Given the description of an element on the screen output the (x, y) to click on. 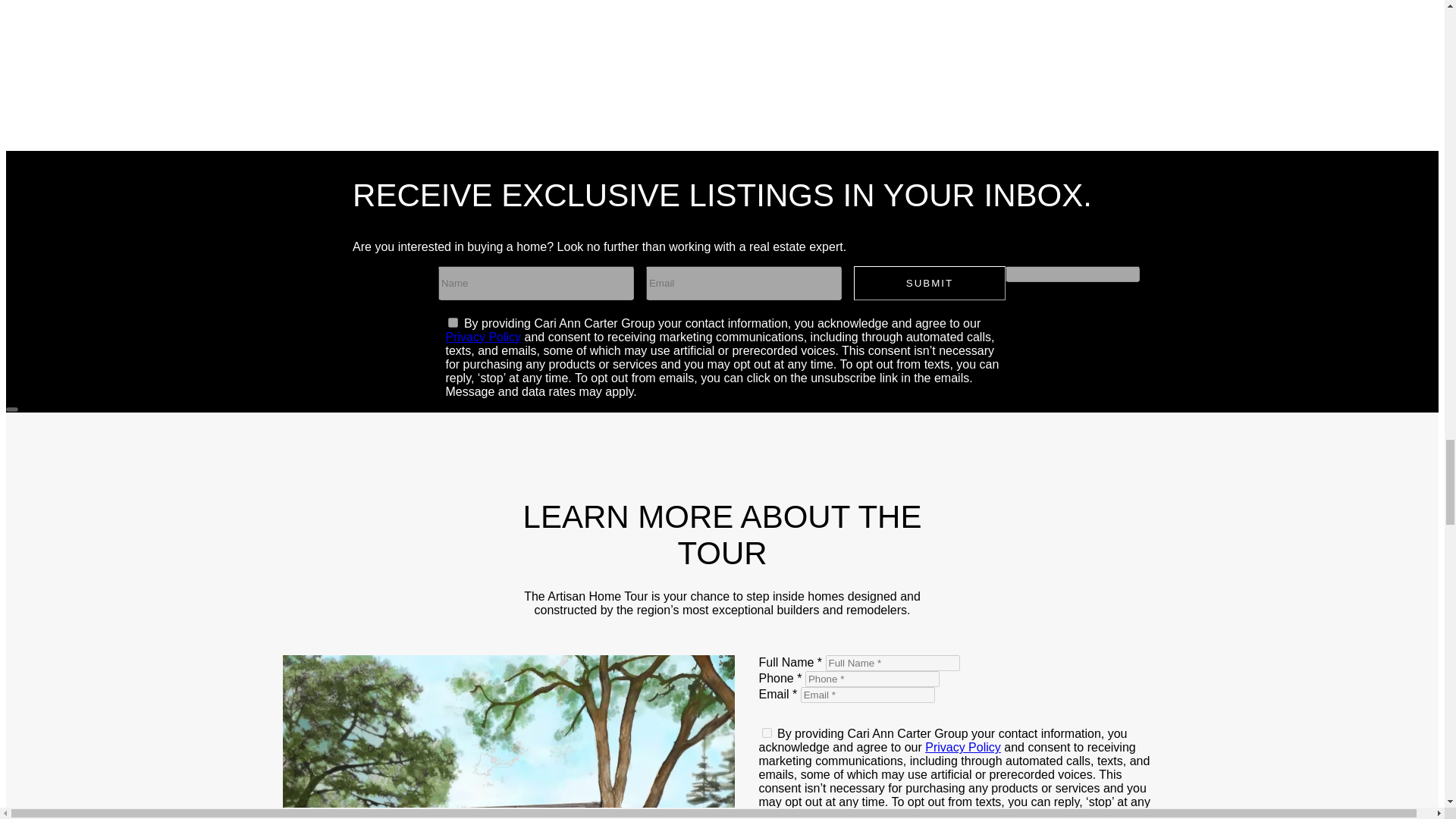
on (766, 732)
on (453, 322)
